Given the description of an element on the screen output the (x, y) to click on. 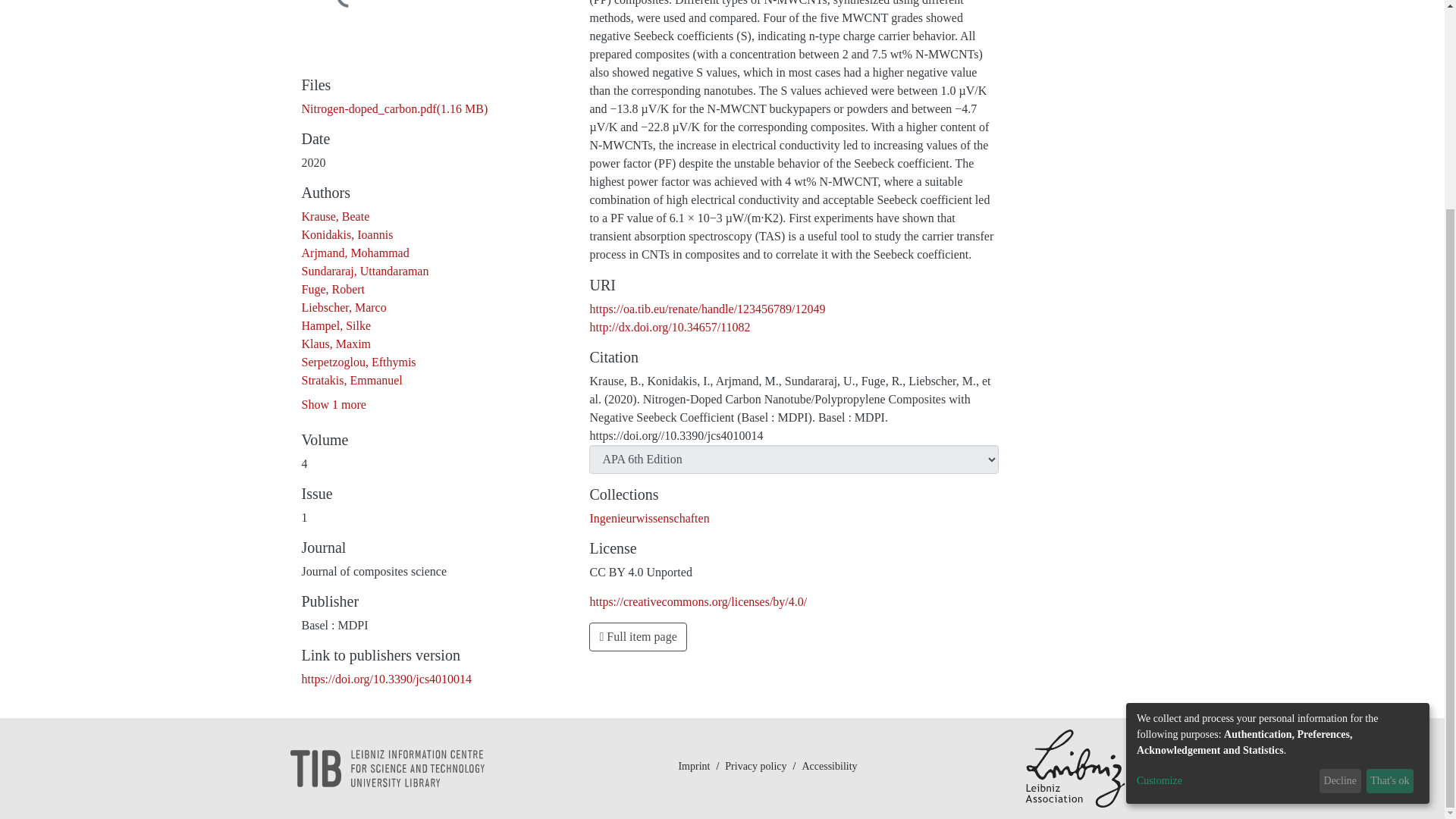
Liebscher, Marco (344, 307)
Privacy policy (755, 786)
Sundararaj, Uttandaraman (365, 270)
Serpetzoglou, Efthymis (358, 361)
Krause, Beate (335, 215)
Konidakis, Ioannis (347, 234)
Accessibility (828, 786)
Ingenieurwissenschaften (649, 517)
Full item page (637, 636)
Klaus, Maxim (336, 343)
